Given the description of an element on the screen output the (x, y) to click on. 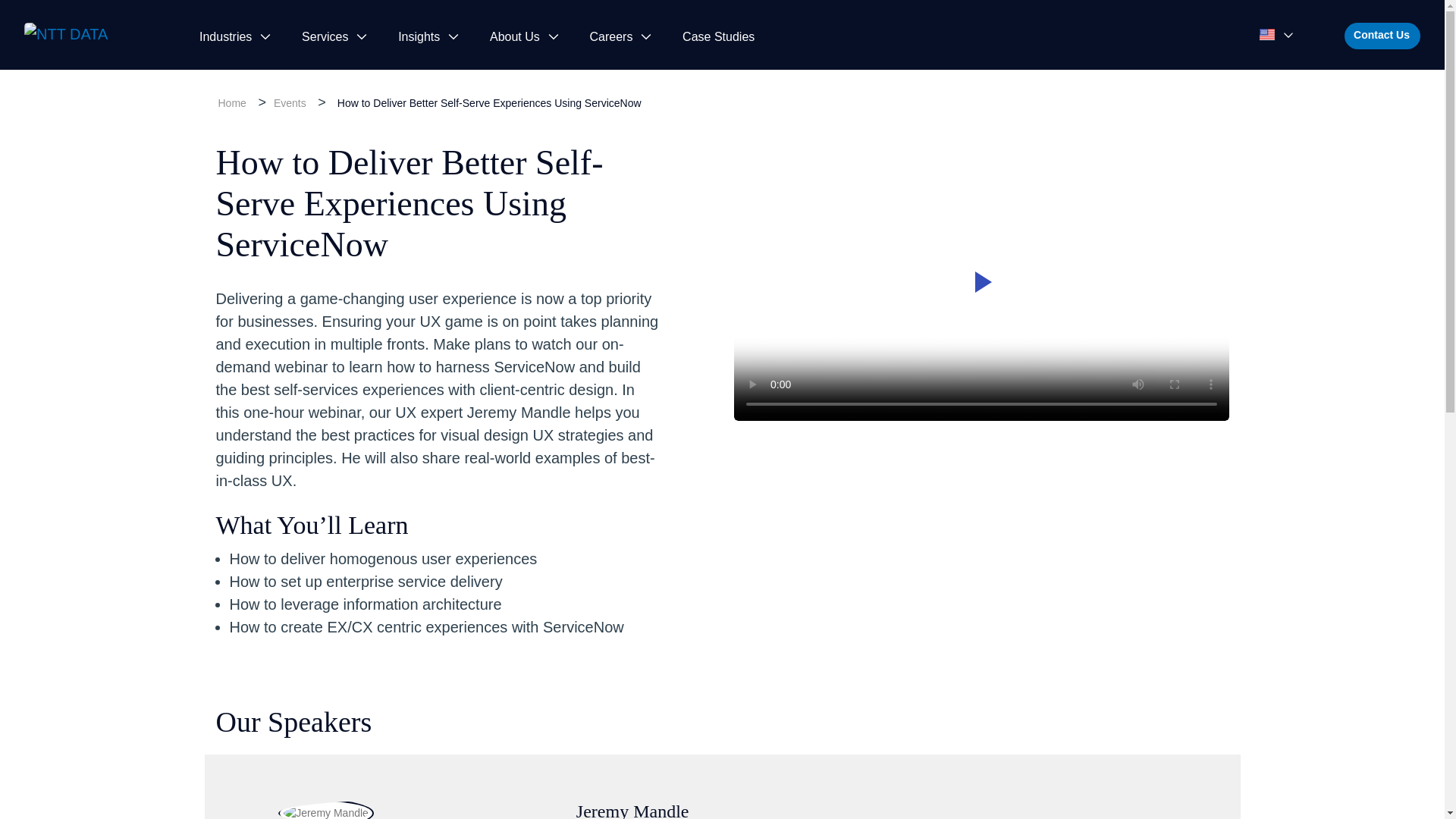
Home (232, 102)
Events (289, 102)
Case Studies (718, 36)
Services (330, 36)
Image (87, 35)
Industries (231, 36)
